Given the description of an element on the screen output the (x, y) to click on. 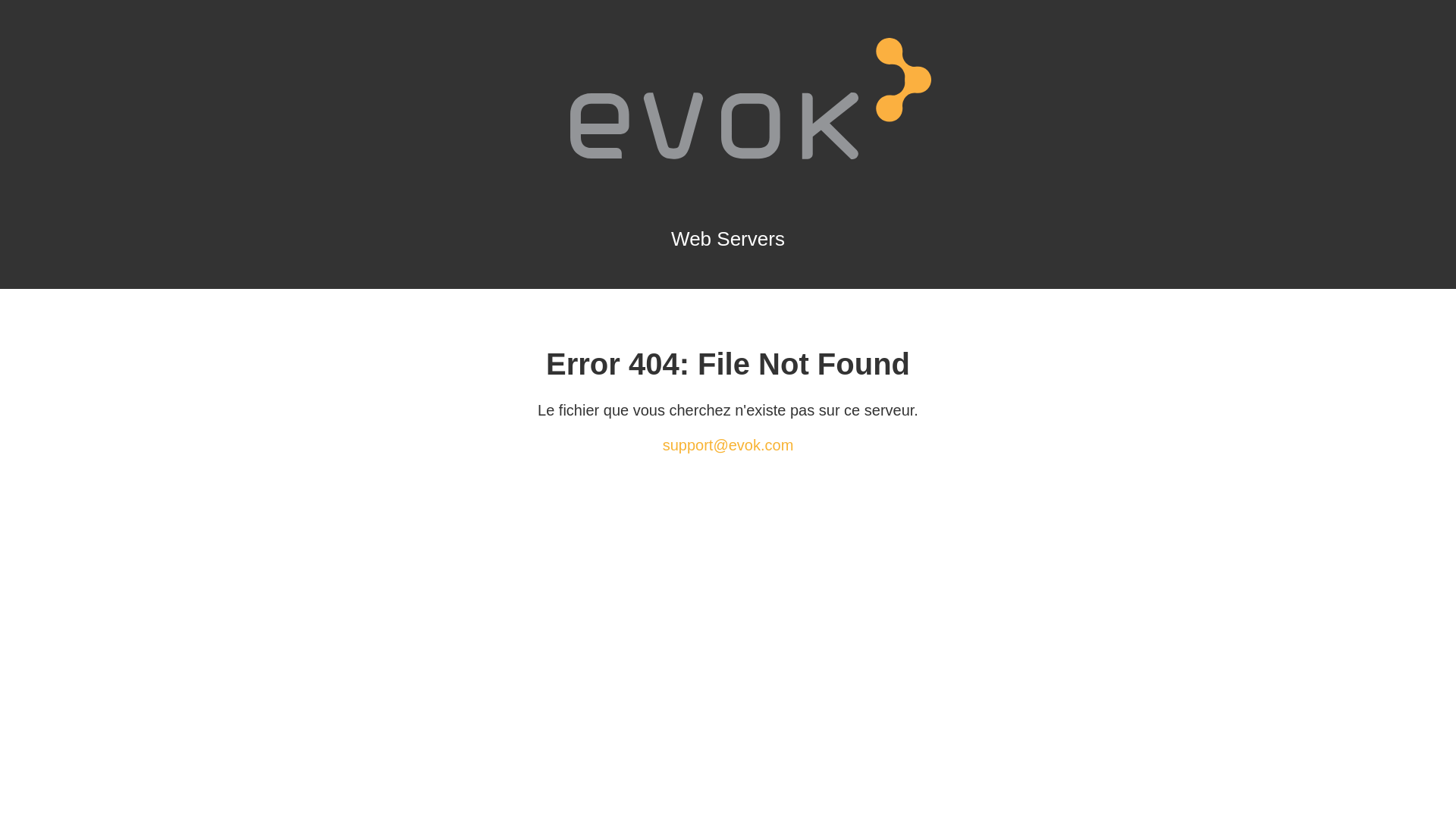
support@evok.com Element type: text (727, 444)
